Given the description of an element on the screen output the (x, y) to click on. 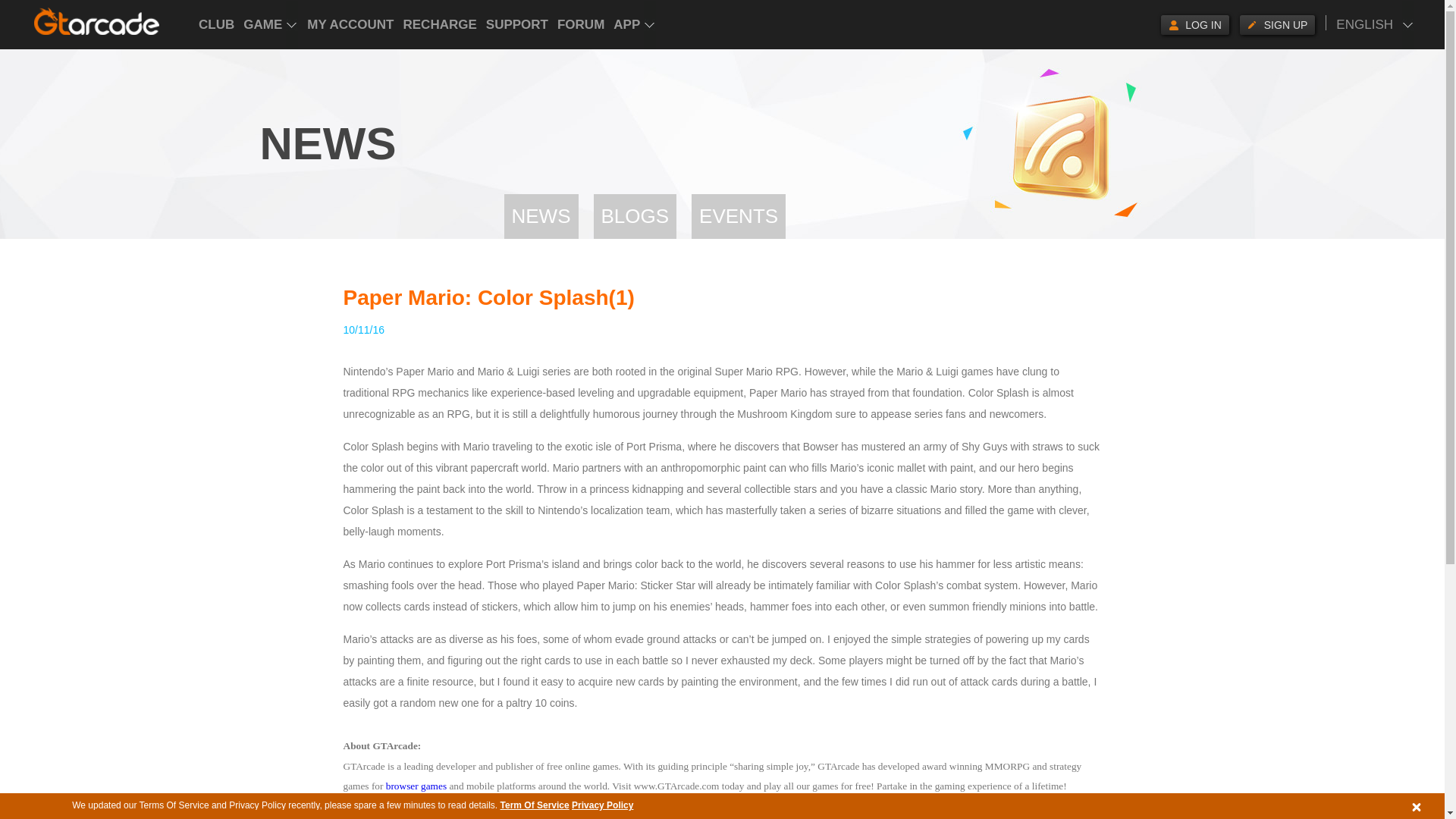
GAME (270, 24)
MY ACCOUNT (350, 24)
FORUM (580, 24)
Play the best online games on GTarcade.com (96, 21)
SUPPORT (517, 24)
RECHARGE (440, 24)
